Given the description of an element on the screen output the (x, y) to click on. 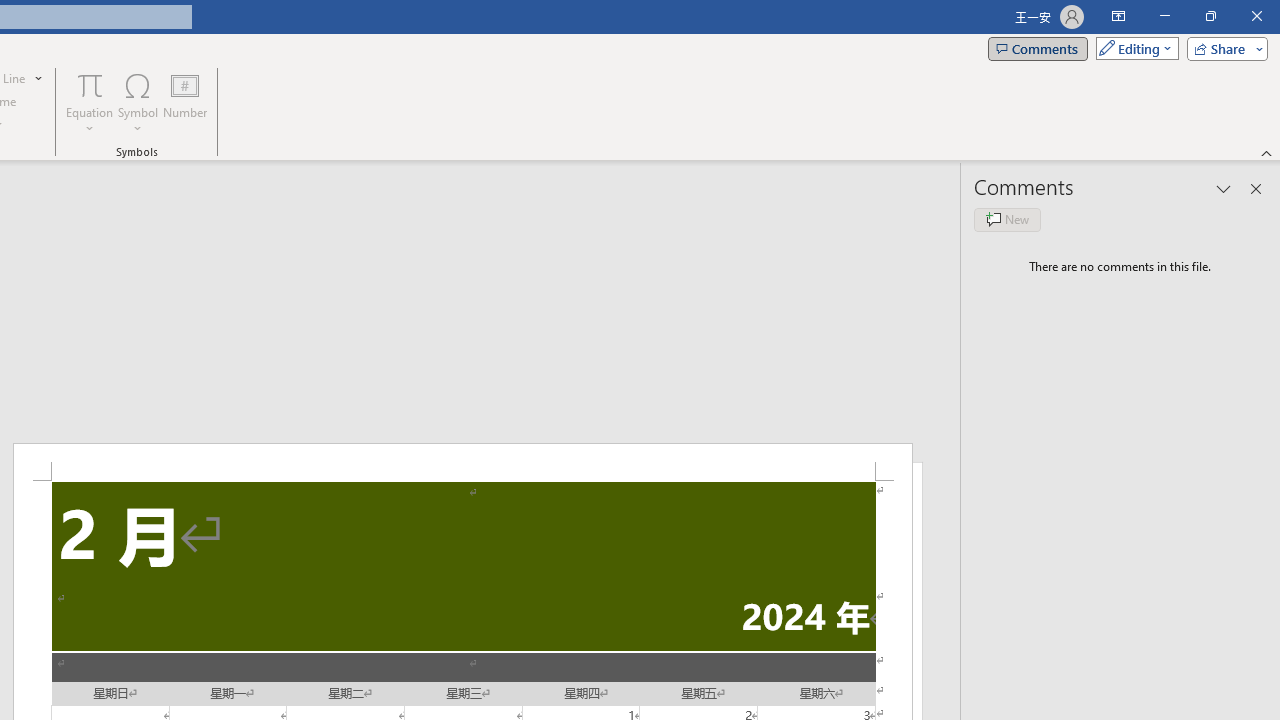
Equation (90, 84)
Symbol (138, 102)
Close (1256, 16)
Close pane (1256, 188)
Ribbon Display Options (1118, 16)
Task Pane Options (1224, 188)
More Options (90, 121)
New comment (1007, 219)
Mode (1133, 47)
Number... (185, 102)
Minimize (1164, 16)
Restore Down (1210, 16)
Header -Section 2- (462, 461)
Share (1223, 48)
